Given the description of an element on the screen output the (x, y) to click on. 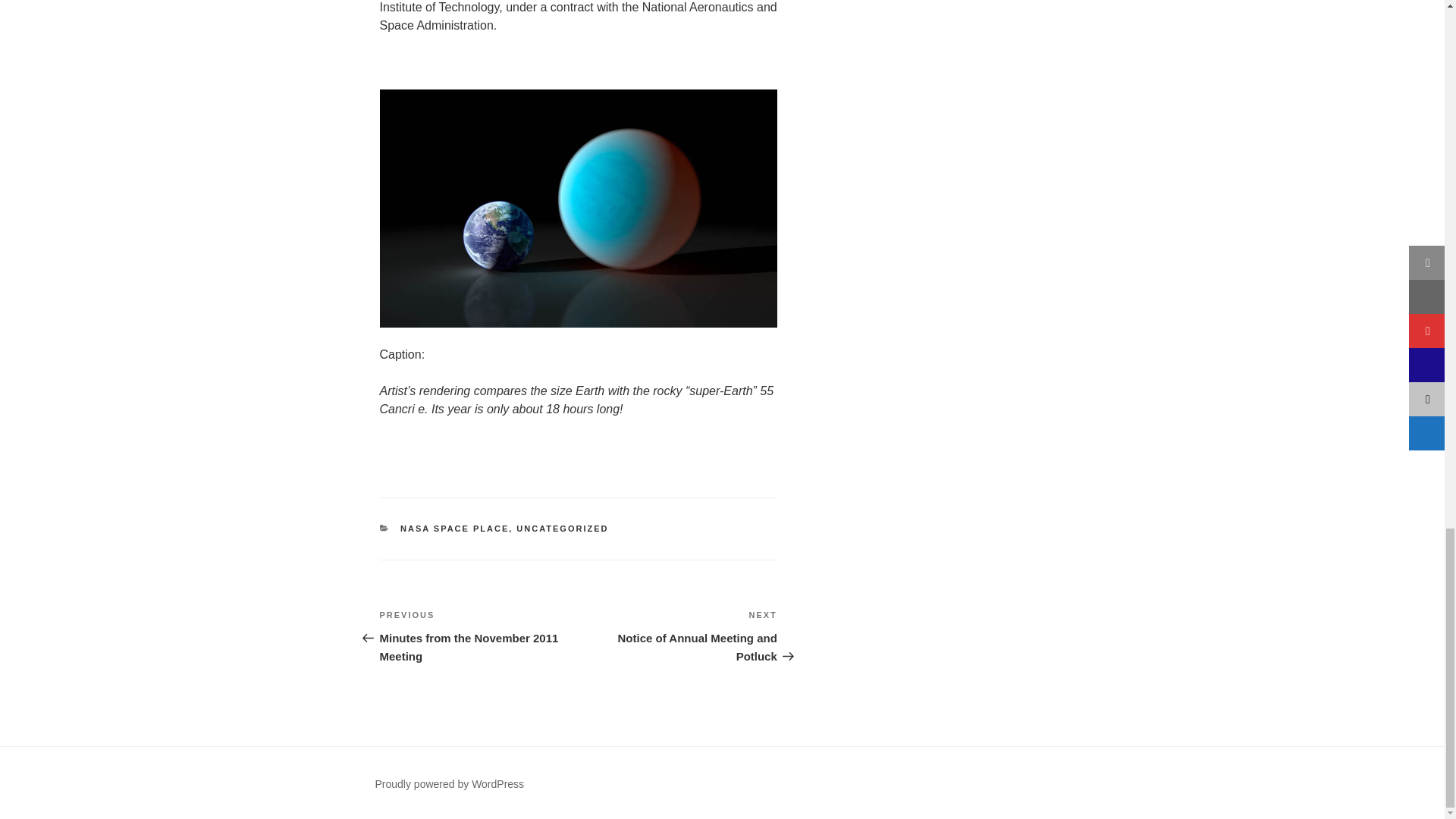
Proudly powered by WordPress (449, 784)
NASA SPACE PLACE (454, 528)
UNCATEGORIZED (677, 636)
